Given the description of an element on the screen output the (x, y) to click on. 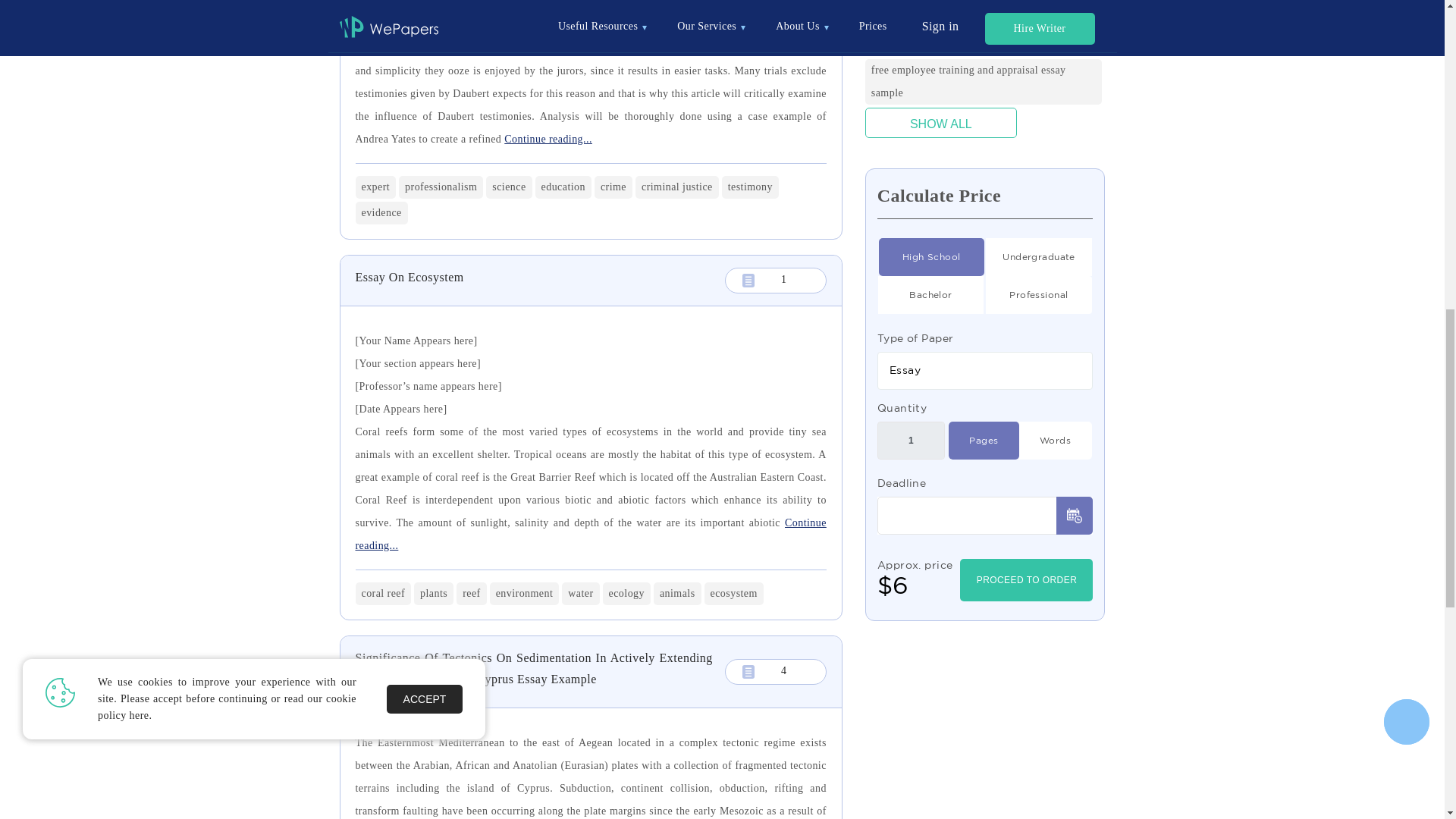
1 (1038, 256)
6 (931, 256)
3 (931, 294)
4 (1038, 294)
1 (910, 440)
on (983, 439)
on (1054, 439)
Essay (985, 369)
